Given the description of an element on the screen output the (x, y) to click on. 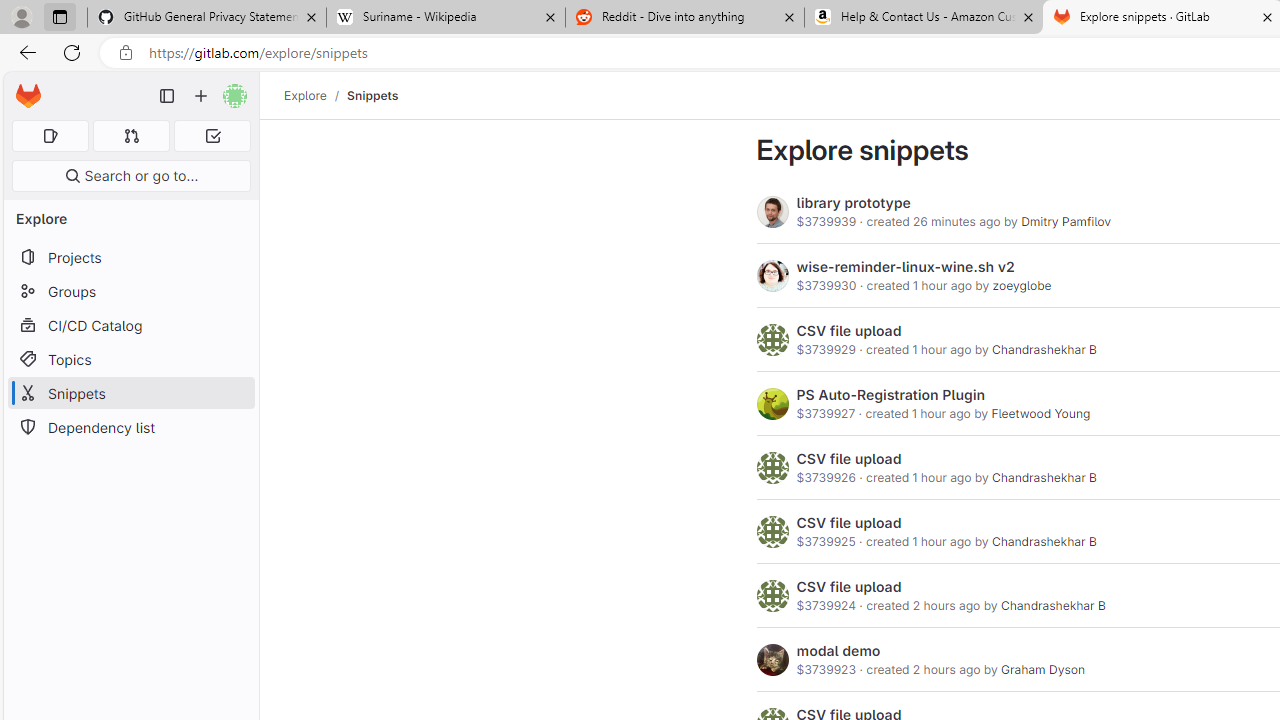
Merge requests 0 (131, 136)
Groups (130, 291)
Suriname - Wikipedia (445, 17)
Topics (130, 358)
Fleetwood Young (1040, 413)
library prototype (853, 202)
modal demo (838, 651)
Explore/ (316, 95)
Homepage (27, 96)
Projects (130, 257)
Explore (305, 95)
